Given the description of an element on the screen output the (x, y) to click on. 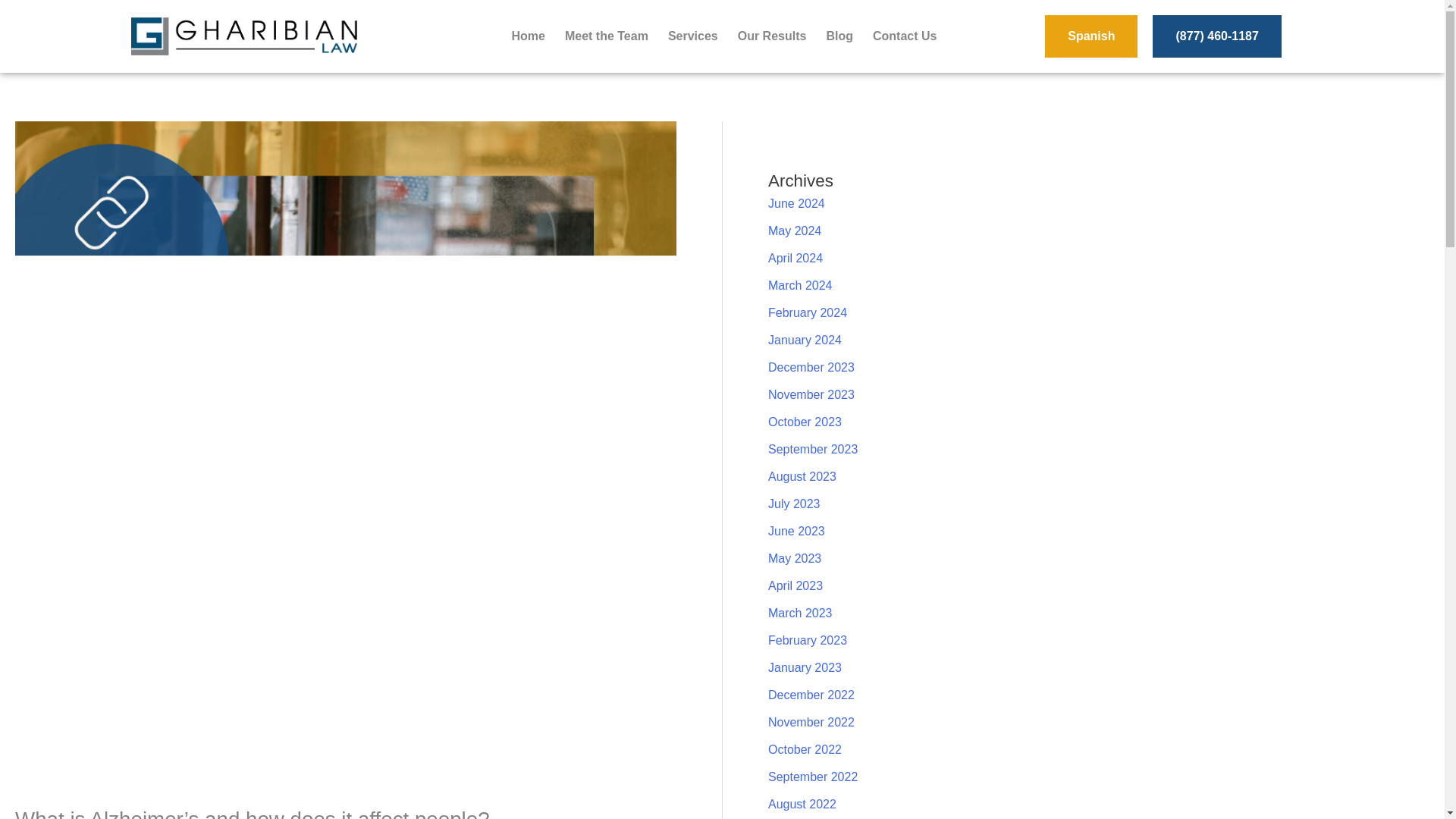
Blog (839, 35)
Spanish (1091, 36)
Our Results (772, 35)
Contact Us (904, 35)
Home (527, 35)
Meet the Team (606, 35)
Services (693, 35)
